Given the description of an element on the screen output the (x, y) to click on. 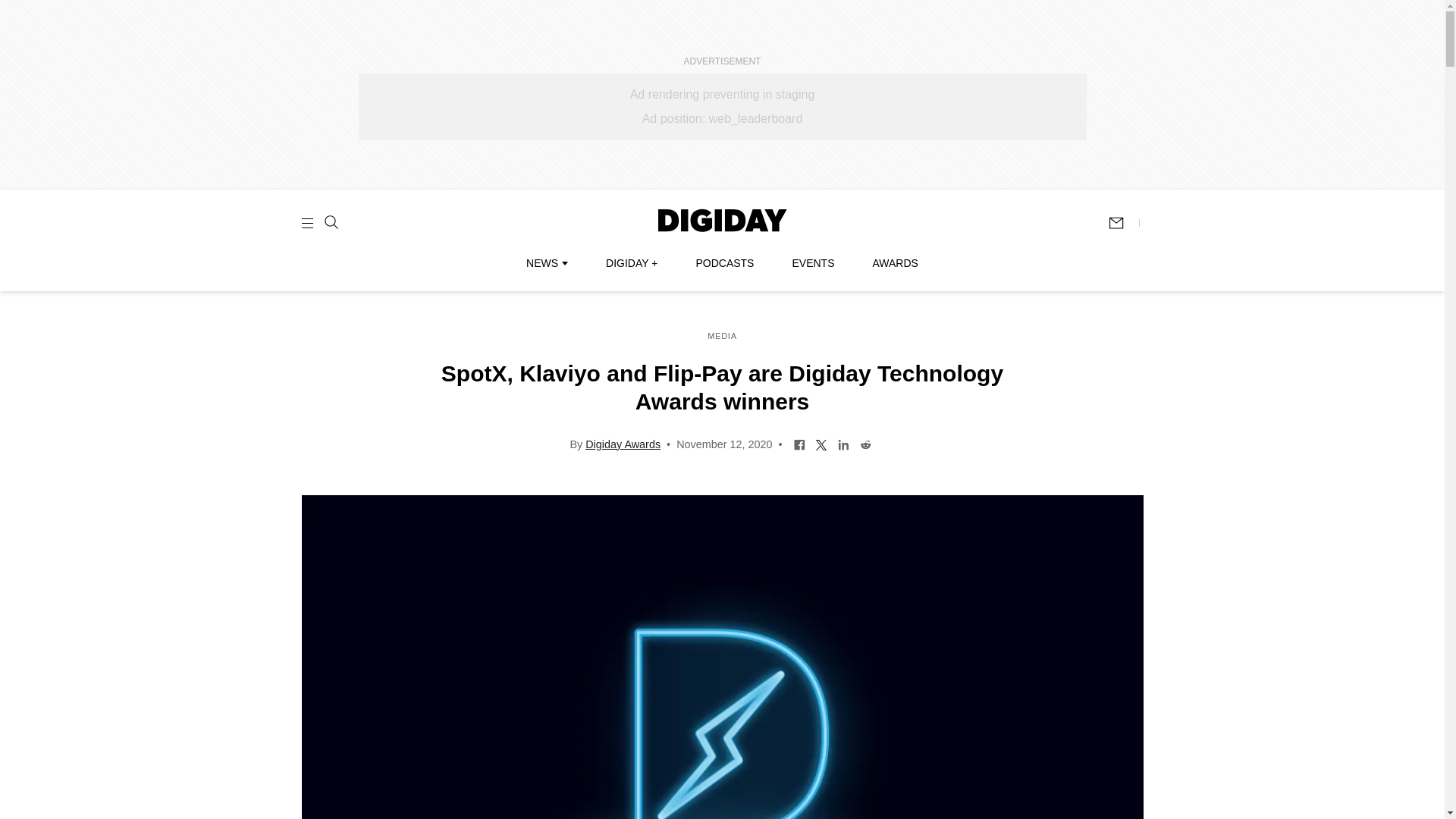
Share on LinkedIn (843, 443)
Share on Facebook (799, 443)
AWARDS (894, 262)
Share on Twitter (821, 443)
Subscribe (1123, 223)
Share on Reddit (865, 443)
PODCASTS (725, 262)
EVENTS (813, 262)
NEWS (546, 262)
